Given the description of an element on the screen output the (x, y) to click on. 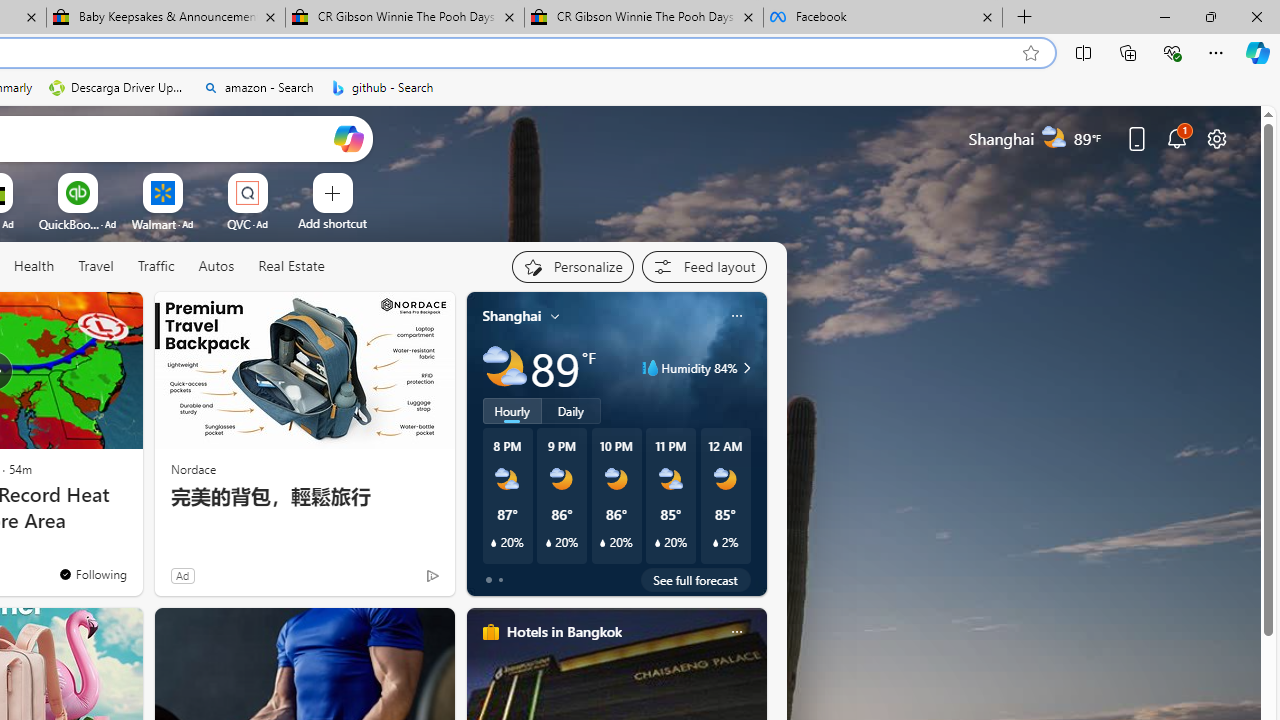
Partly cloudy (504, 368)
Class: weather-current-precipitation-glyph (715, 543)
Humidity 84% (744, 367)
Page settings (1216, 138)
Shanghai (511, 315)
Partly cloudy (504, 368)
